Given the description of an element on the screen output the (x, y) to click on. 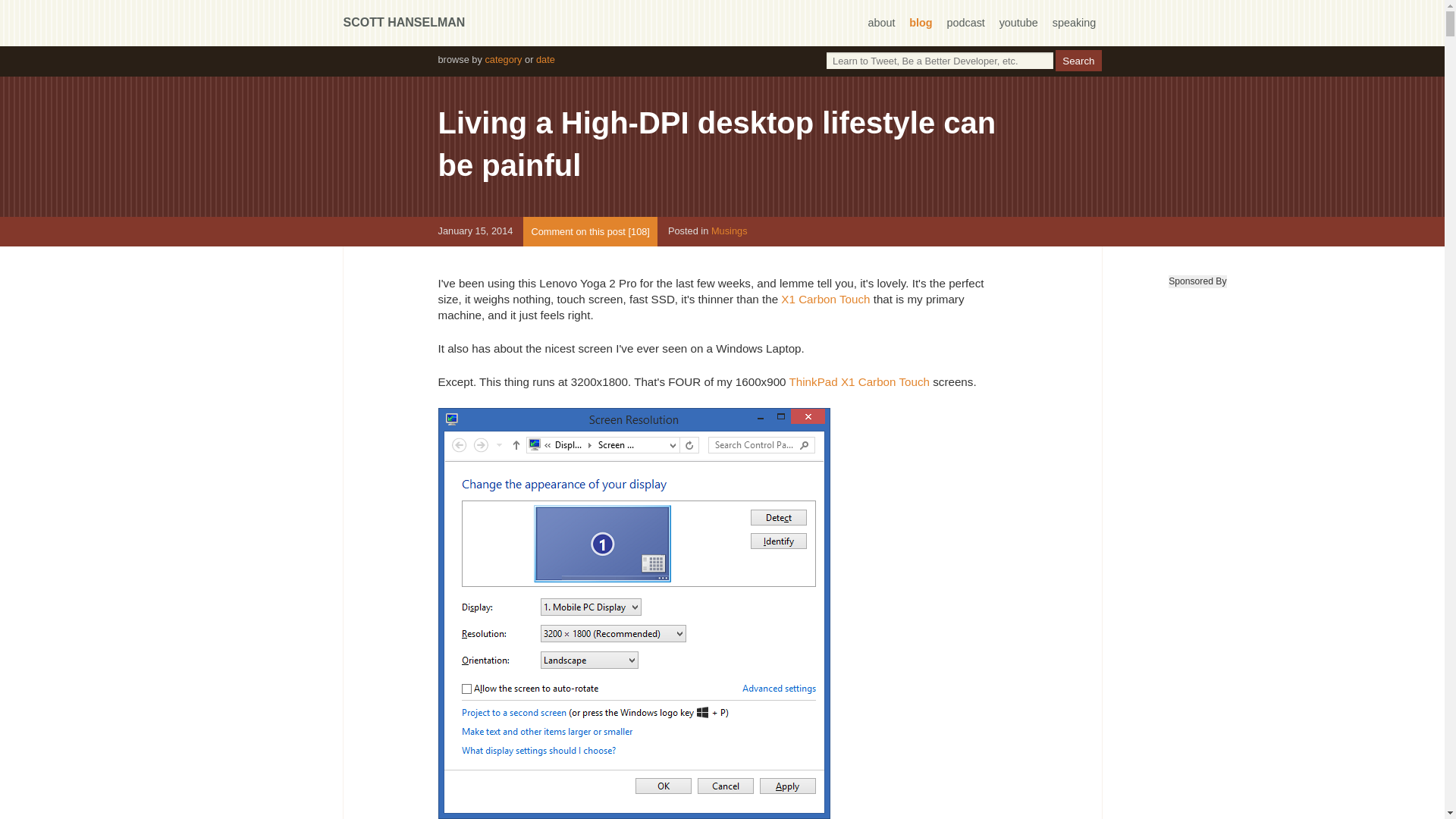
The complete archive of Scott's Blog (502, 59)
X1 Carbon Touch (824, 298)
ThinkPad X1 Carbon Touch (859, 381)
about (881, 22)
youtube (1018, 22)
category (502, 59)
SCOTT HANSELMAN (403, 21)
blog (919, 22)
Musings (729, 231)
Search (1077, 60)
